Given the description of an element on the screen output the (x, y) to click on. 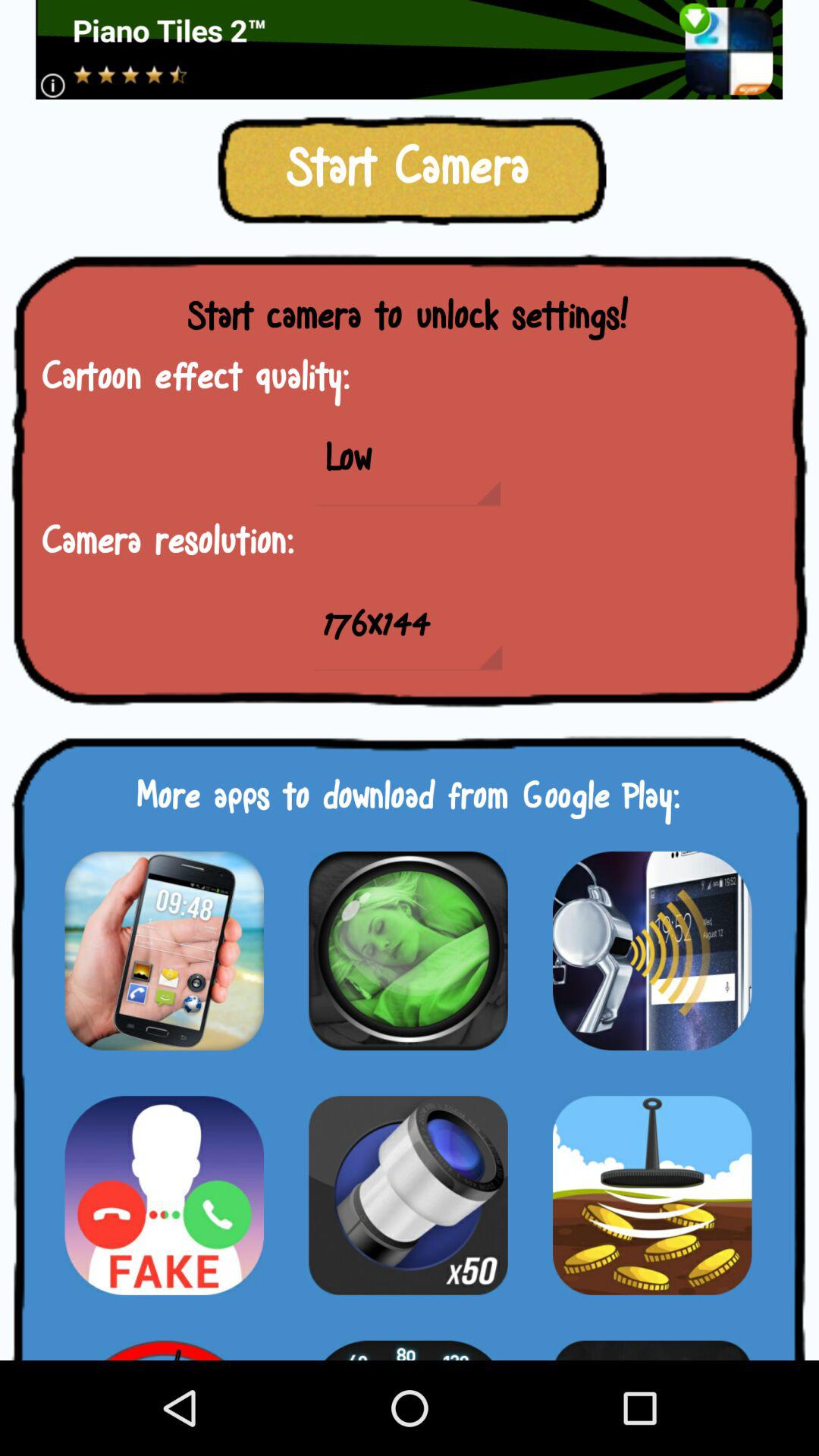
download a new app (164, 1195)
